Given the description of an element on the screen output the (x, y) to click on. 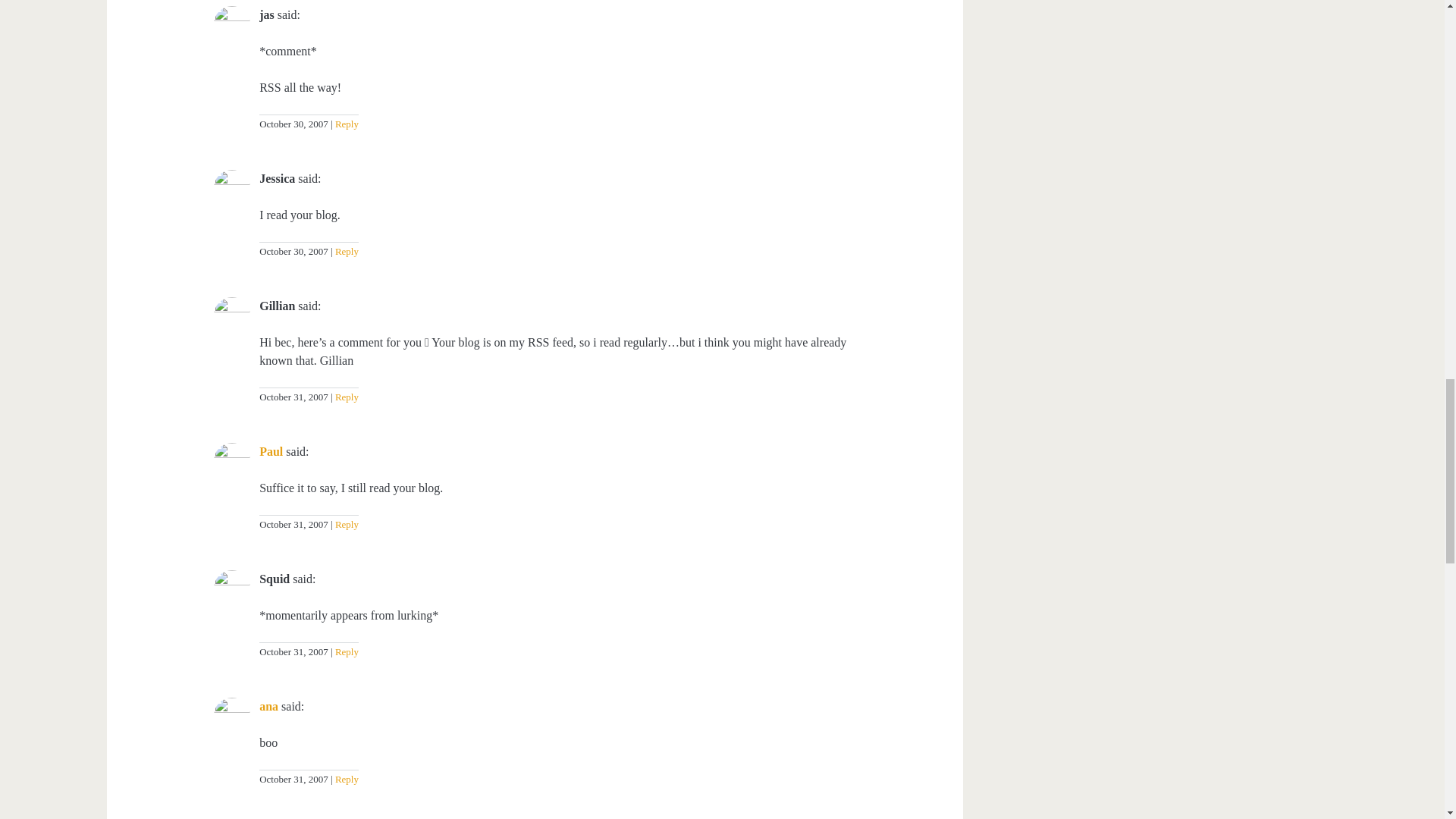
Paul (270, 451)
Reply (344, 396)
Reply (344, 251)
Reply (344, 778)
Reply (344, 123)
ana (268, 706)
Reply (344, 651)
Reply (344, 523)
